Given the description of an element on the screen output the (x, y) to click on. 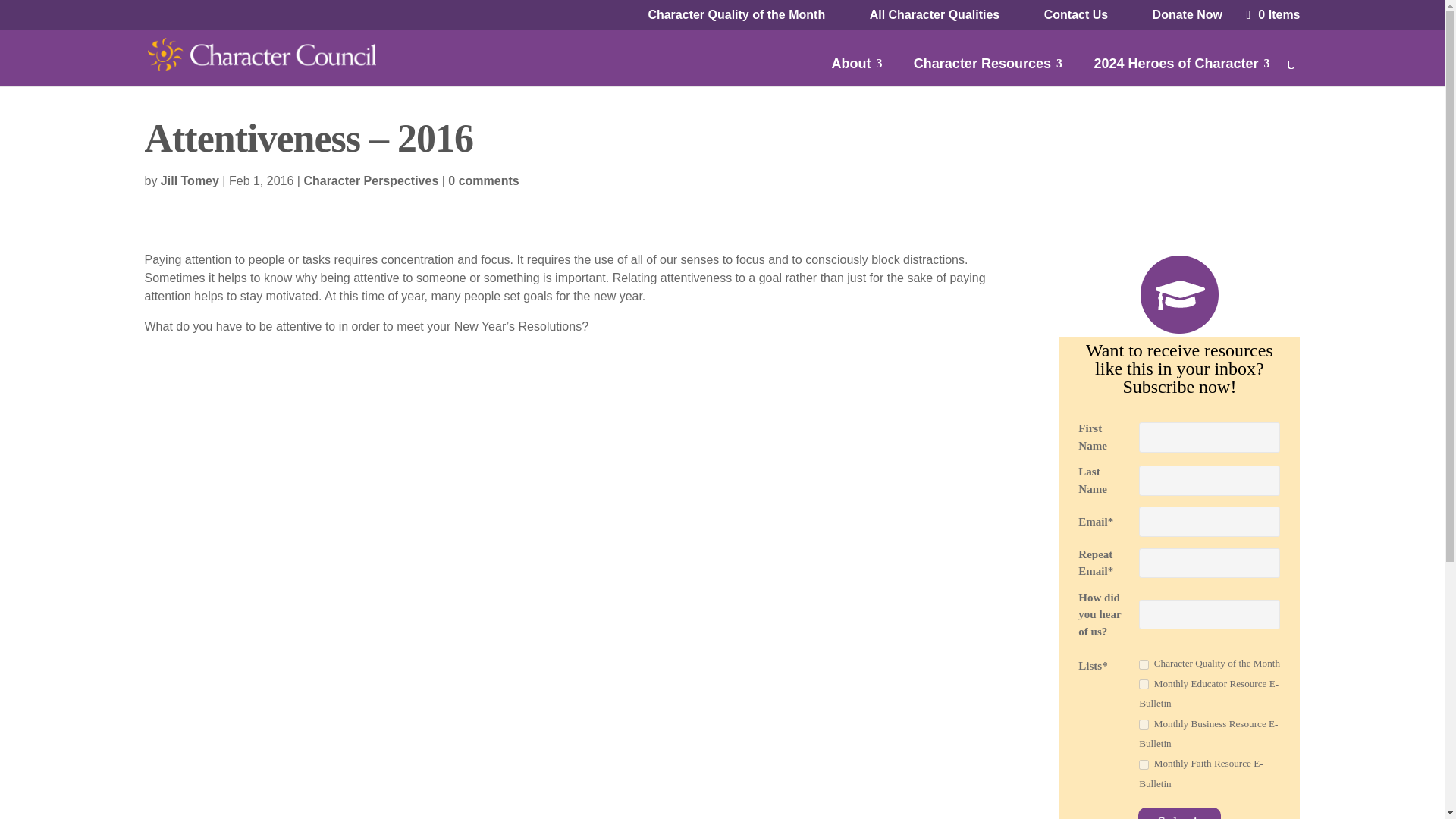
Contact Us (1075, 15)
12431 (1143, 664)
Donate Now (1186, 15)
Character Quality of the Month (736, 15)
116539 (1143, 684)
Posts by Jill Tomey (189, 180)
Character Resources (988, 70)
116541 (1143, 764)
All Character Qualities (934, 15)
About (856, 70)
